Given the description of an element on the screen output the (x, y) to click on. 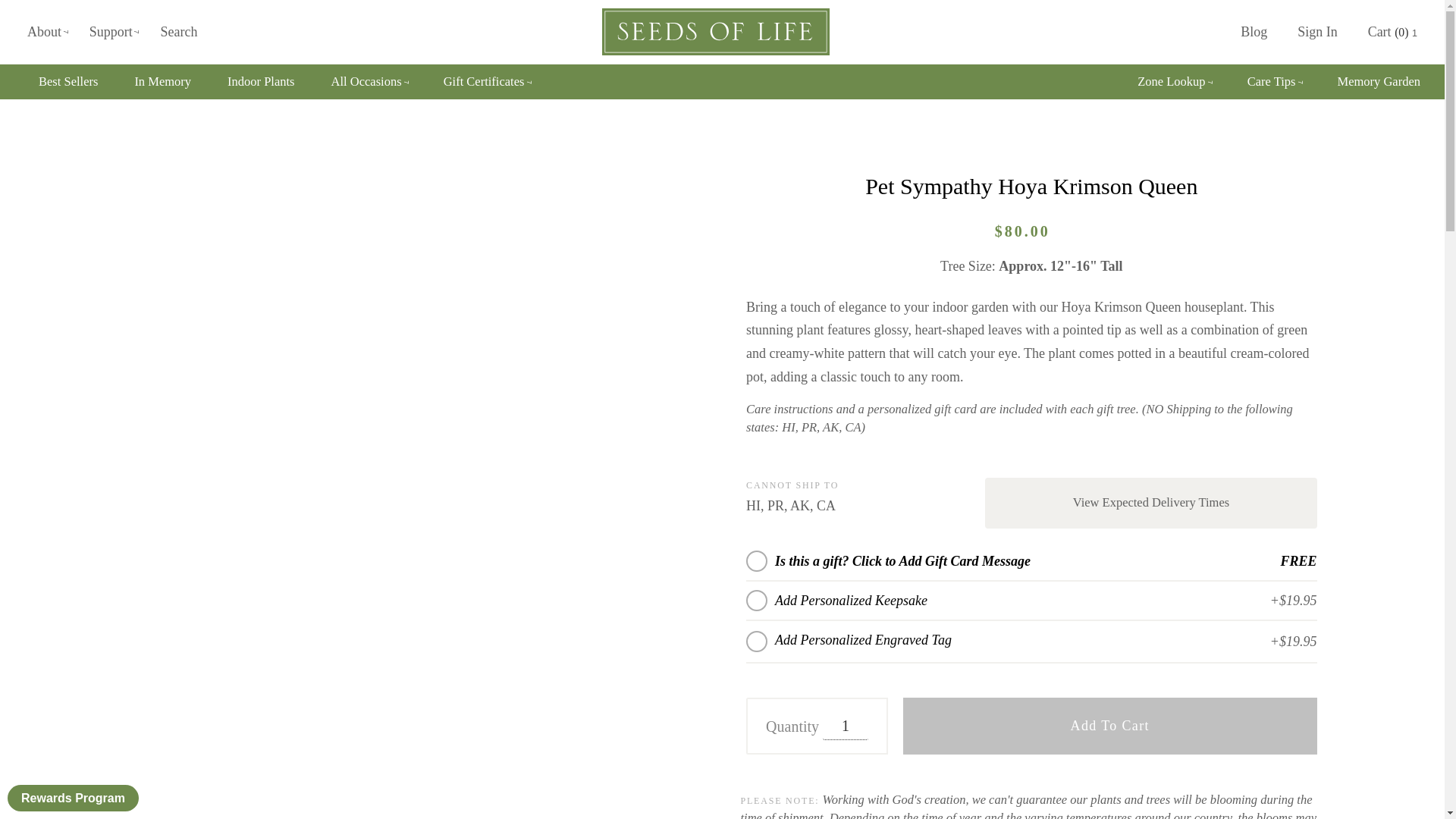
Search (178, 31)
Add To Cart (1109, 725)
Sign In (1317, 31)
Blog (1253, 31)
Add Personalized Engraved Tag (1021, 639)
Seeds Of Life (716, 31)
Add Personalized Keepsake (850, 600)
PRESS ENTER (1217, 29)
1 (844, 725)
Sign In (1308, 74)
CLOSE (1241, 9)
